Given the description of an element on the screen output the (x, y) to click on. 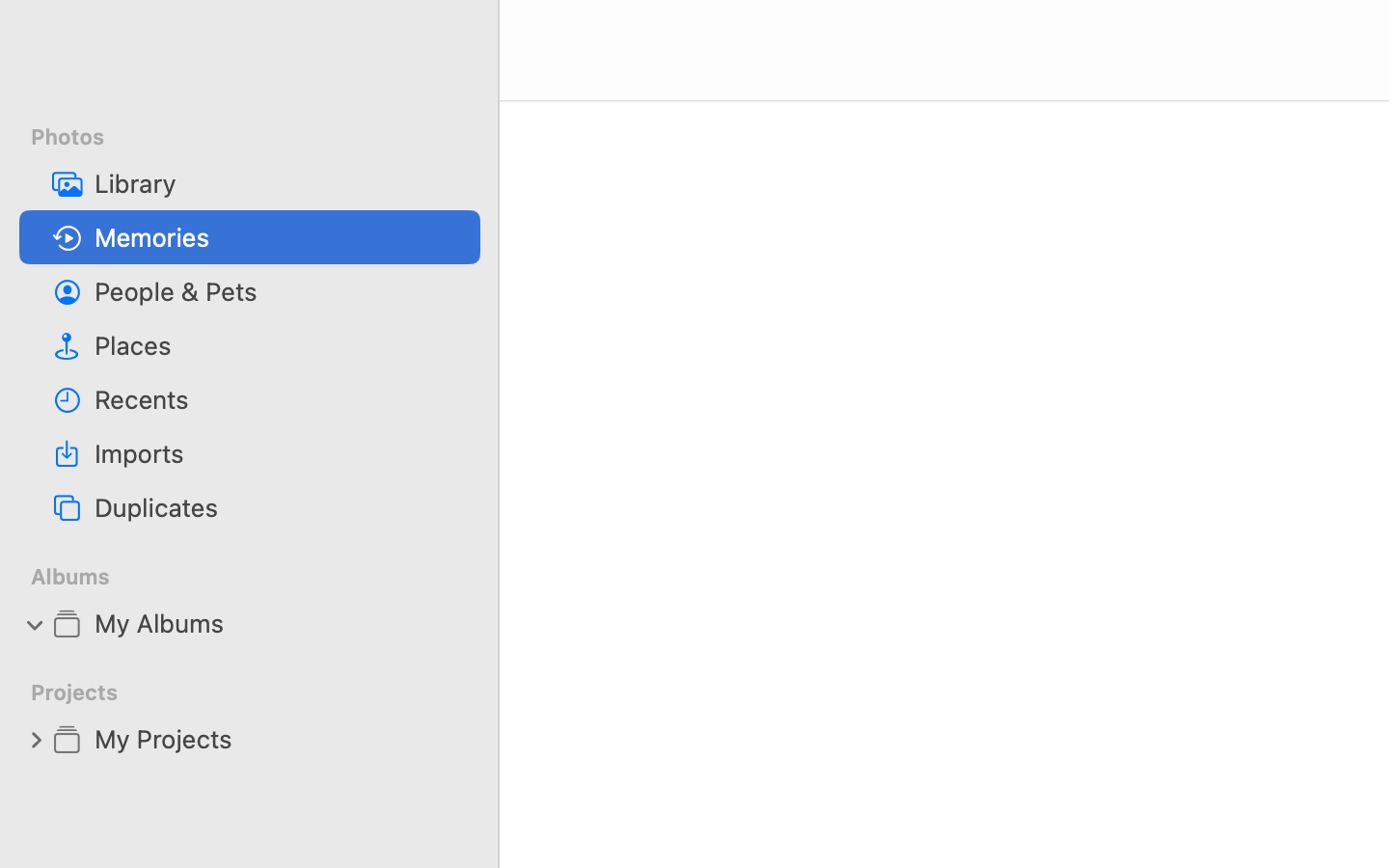
My Albums Element type: AXStaticText (279, 622)
Imports Element type: AXStaticText (279, 452)
1 Element type: AXDisclosureTriangle (35, 623)
Photos Element type: AXStaticText (261, 136)
My Projects Element type: AXStaticText (279, 738)
